Given the description of an element on the screen output the (x, y) to click on. 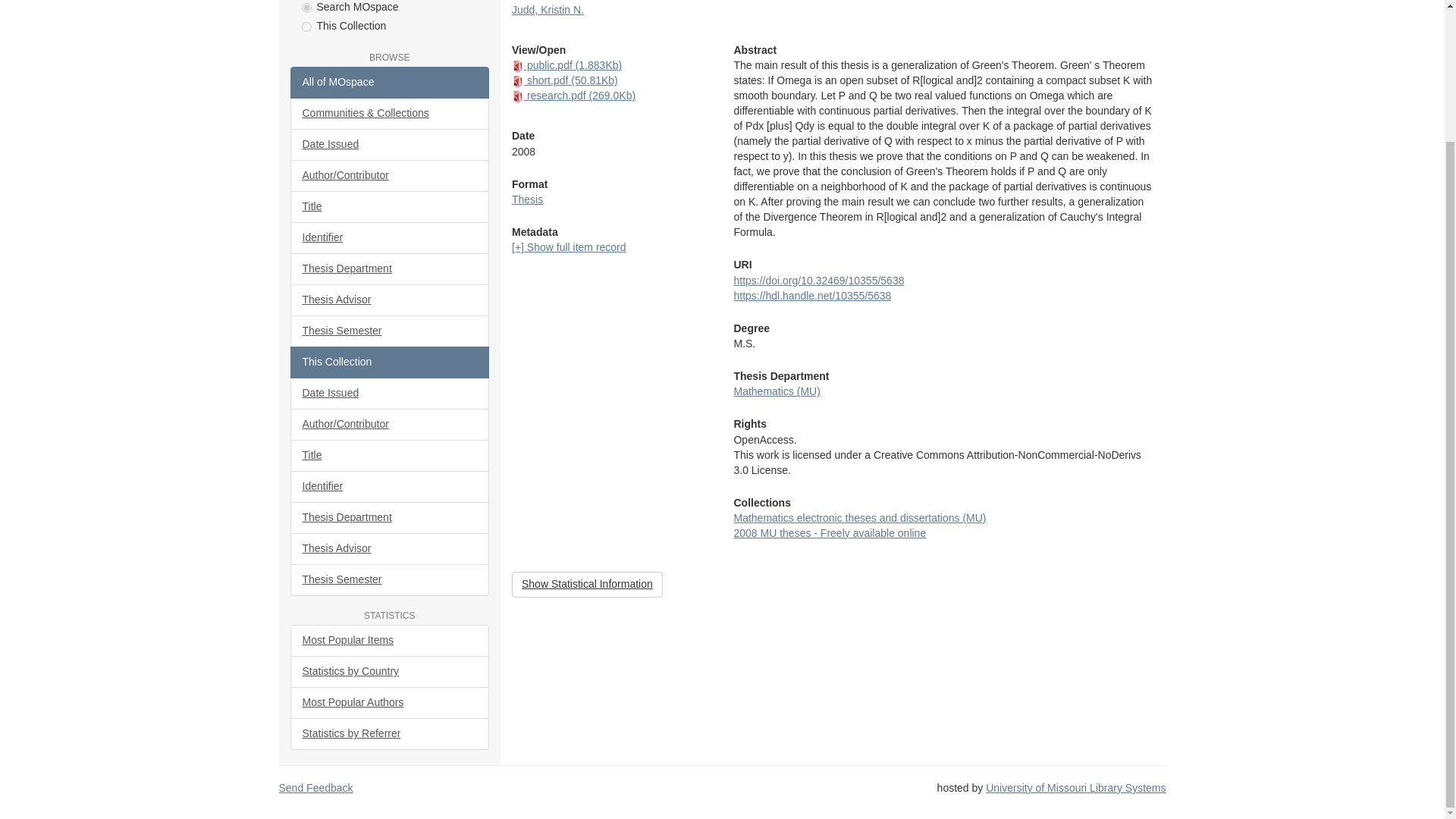
Thesis Department (389, 269)
Date Issued (389, 144)
Title (389, 206)
PDF file (518, 66)
Thesis Advisor (389, 300)
PDF file (518, 96)
PDF file (518, 81)
All of MOspace (389, 82)
Identifier (389, 237)
